Given the description of an element on the screen output the (x, y) to click on. 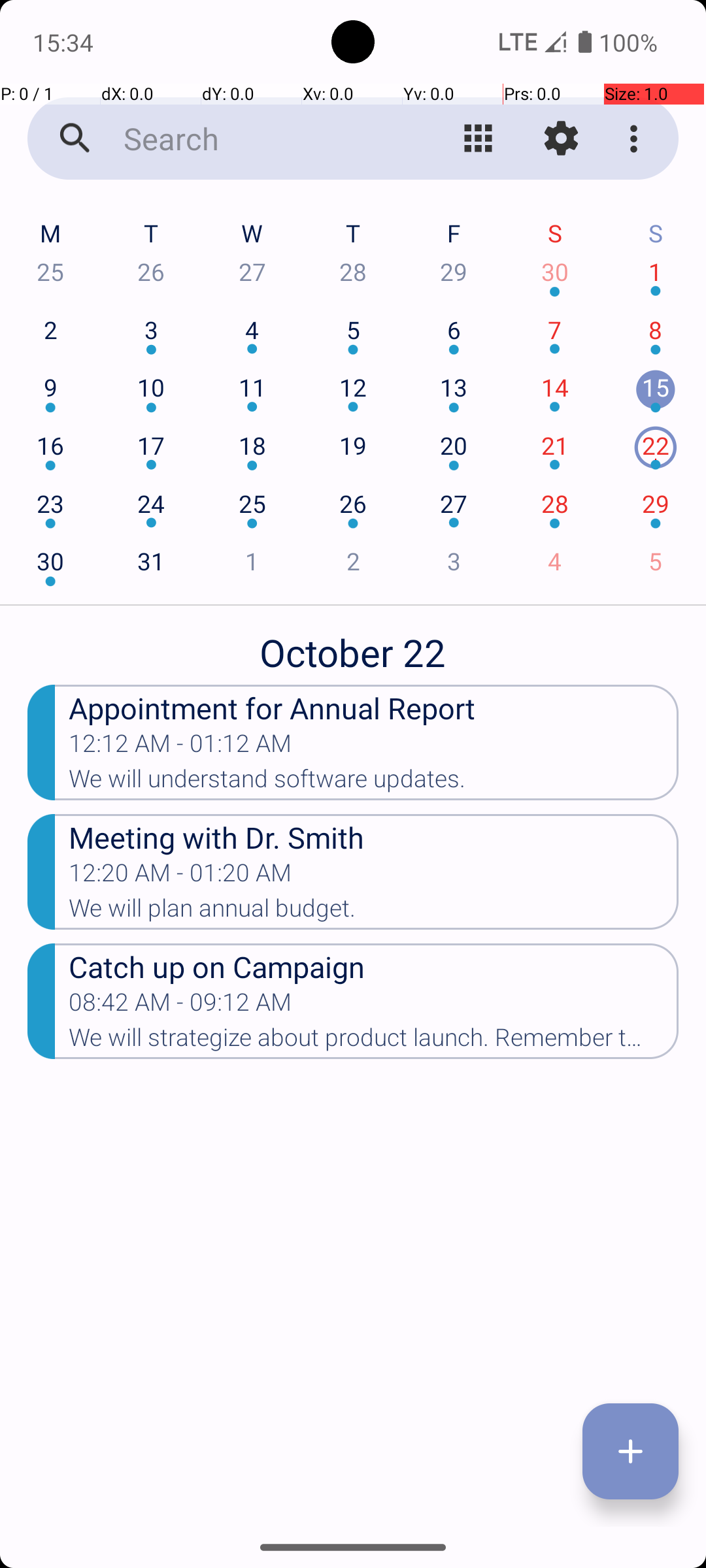
October 22 Element type: android.widget.TextView (352, 644)
12:12 AM - 01:12 AM Element type: android.widget.TextView (179, 747)
We will understand software updates. Element type: android.widget.TextView (373, 782)
12:20 AM - 01:20 AM Element type: android.widget.TextView (179, 876)
We will plan annual budget. Element type: android.widget.TextView (373, 911)
08:42 AM - 09:12 AM Element type: android.widget.TextView (179, 1005)
We will strategize about product launch. Remember to confirm attendance. Element type: android.widget.TextView (373, 1041)
